Given the description of an element on the screen output the (x, y) to click on. 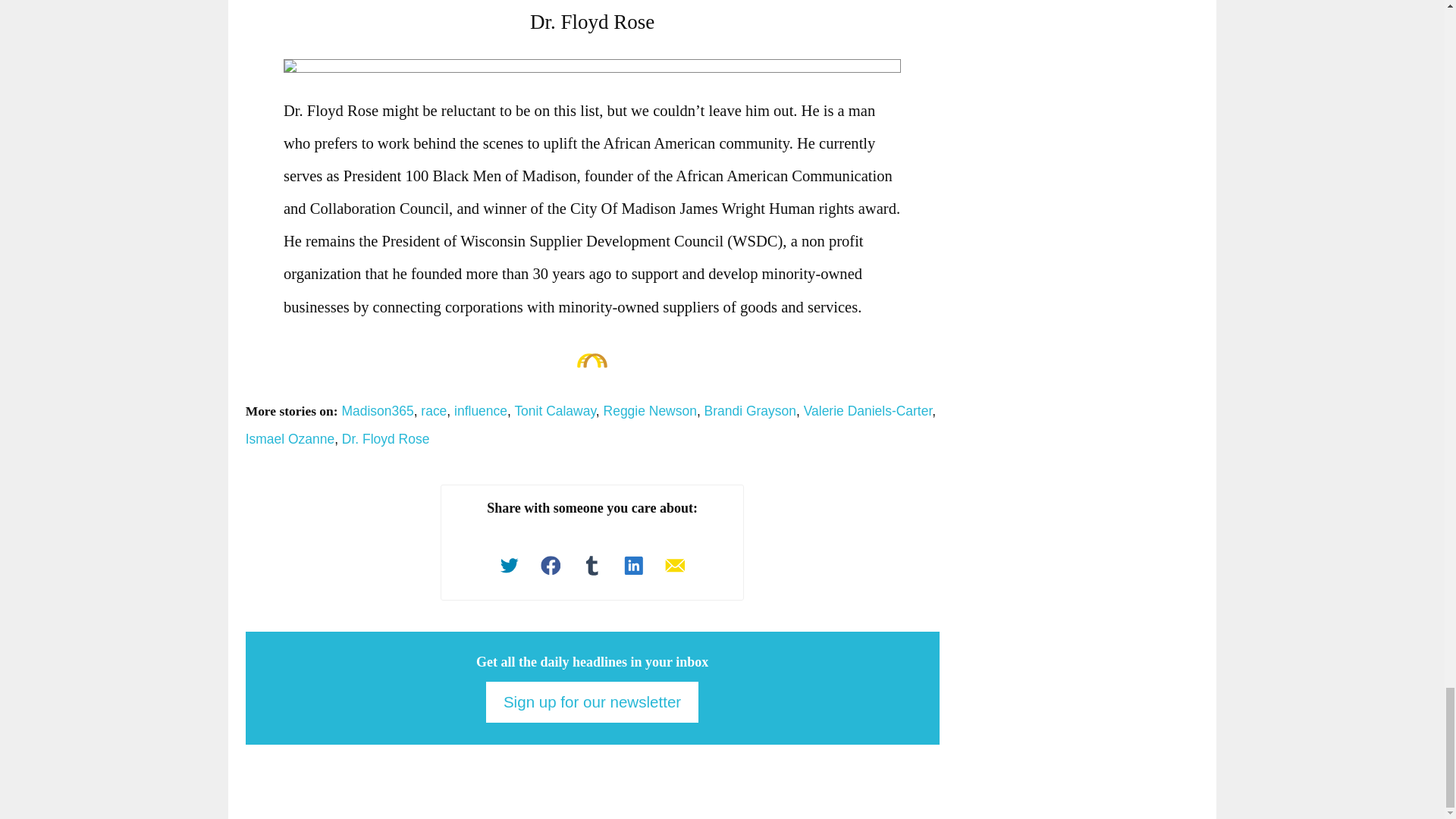
Tonit Calaway (554, 410)
Sign up for our newsletter (592, 701)
Ismael Ozanne (290, 438)
Reggie Newson (650, 410)
influence (480, 410)
Brandi Grayson (750, 410)
race (433, 410)
Madison365 (376, 410)
Dr. Floyd Rose (385, 438)
Valerie Daniels-Carter (868, 410)
